Given the description of an element on the screen output the (x, y) to click on. 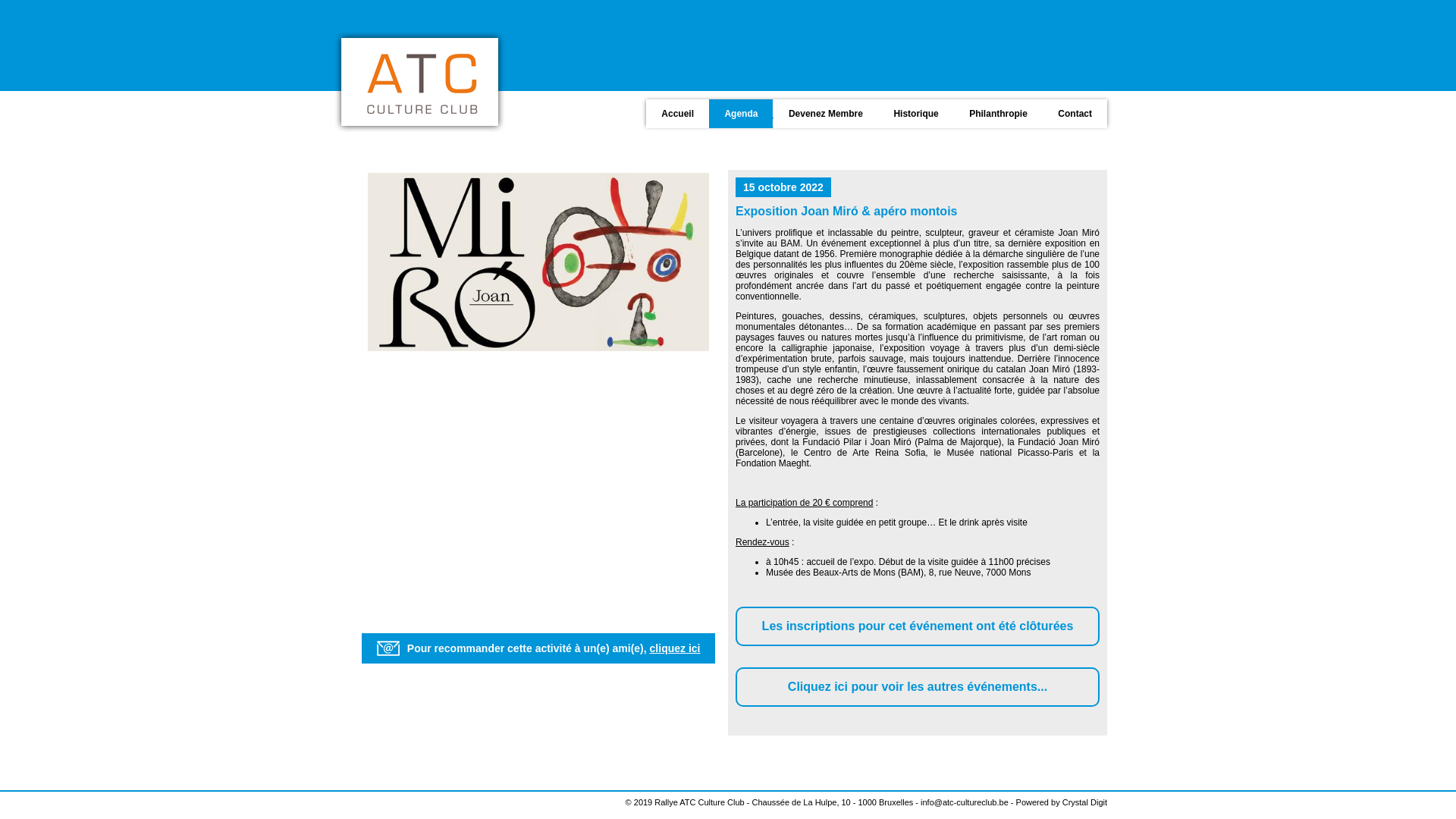
Contact Element type: text (1073, 112)
Historique Element type: text (914, 112)
cliquez ici Element type: text (674, 648)
Accueil Element type: text (676, 112)
Devenez Membre Element type: text (824, 112)
Powered by Crystal Digit Element type: text (1061, 801)
info@atc-cultureclub.be Element type: text (964, 801)
Philanthropie Element type: text (996, 112)
